Given the description of an element on the screen output the (x, y) to click on. 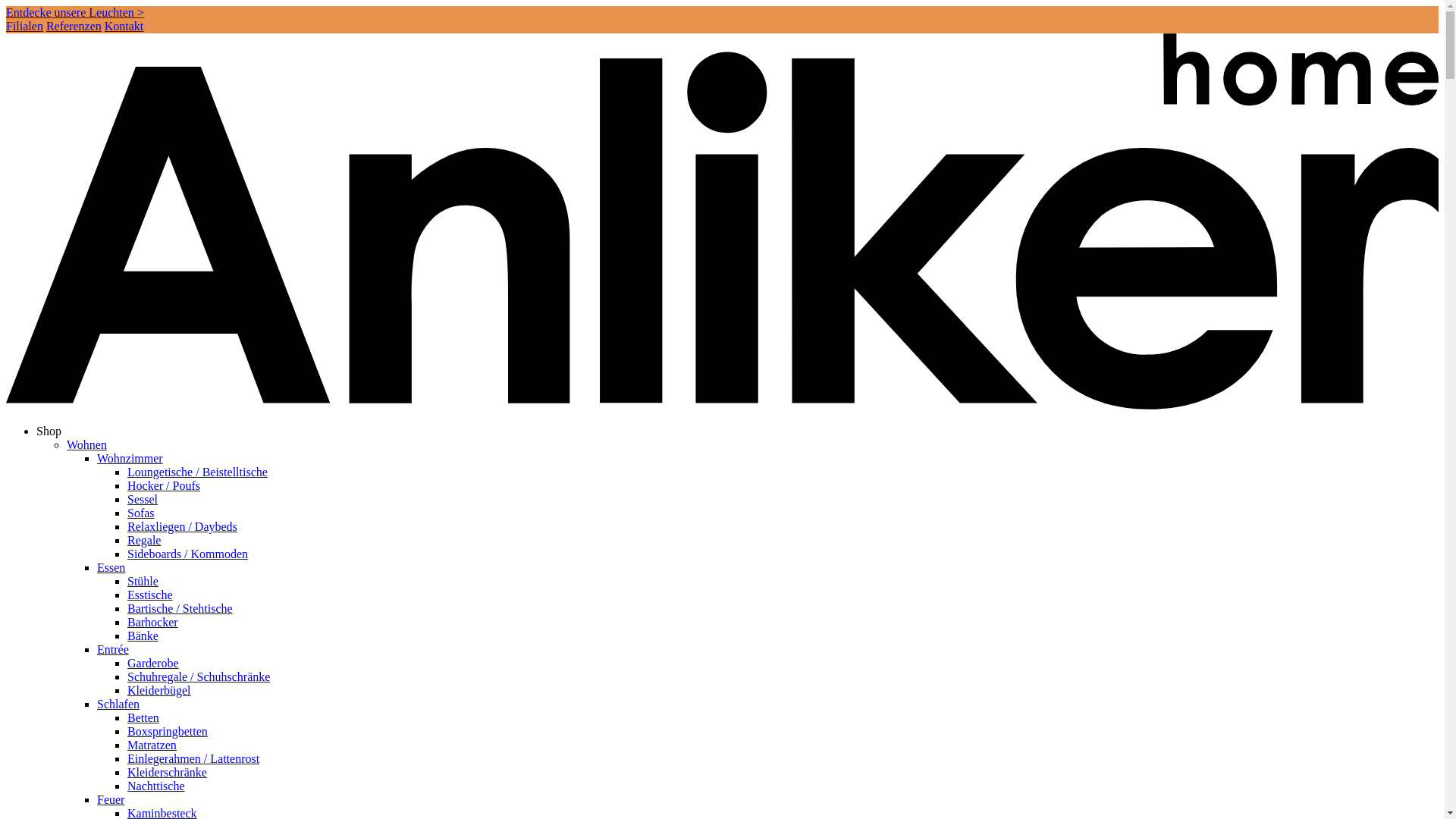
Feuer Element type: text (110, 799)
Sofas Element type: text (140, 512)
Sessel Element type: text (142, 498)
Essen Element type: text (111, 567)
Boxspringbetten Element type: text (167, 730)
Garderobe Element type: text (152, 662)
Regale Element type: text (143, 539)
Referenzen Element type: text (73, 25)
Filialen Element type: text (24, 25)
Hocker / Poufs Element type: text (163, 485)
Wohnzimmer Element type: text (130, 457)
Betten Element type: text (143, 717)
Barhocker Element type: text (152, 621)
Relaxliegen / Daybeds Element type: text (182, 526)
Wohnen Element type: text (86, 444)
Matratzen Element type: text (151, 744)
Esstische Element type: text (149, 594)
Bartische / Stehtische Element type: text (179, 608)
Sideboards / Kommoden Element type: text (187, 553)
Loungetische / Beistelltische Element type: text (197, 471)
Entdecke unsere Leuchten > Element type: text (75, 12)
Schlafen Element type: text (118, 703)
Nachttische Element type: text (156, 785)
Einlegerahmen / Lattenrost Element type: text (193, 758)
Kontakt Element type: text (124, 25)
